Given the description of an element on the screen output the (x, y) to click on. 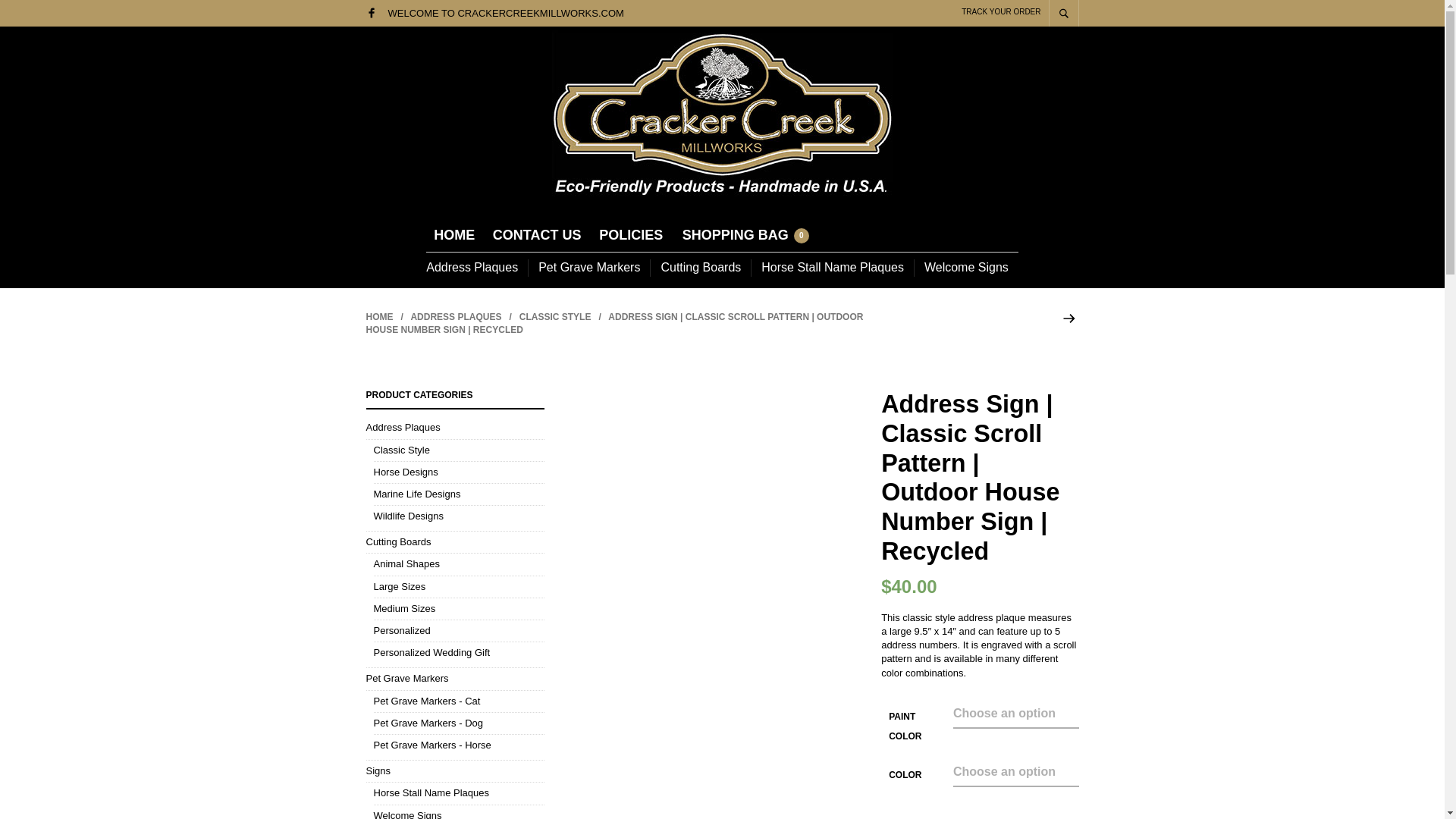
CLASSIC STYLE (555, 317)
POLICIES (630, 235)
ADDRESS PLAQUES (455, 317)
TRACK YOUR ORDER (1000, 11)
HOME (379, 317)
Cutting Boards (700, 267)
Address Plaques (476, 267)
Welcome Signs (965, 267)
Horse Stall Name Plaques (832, 267)
HOME (453, 235)
CONTACT US (536, 235)
Pet Grave Markers (588, 267)
